Given the description of an element on the screen output the (x, y) to click on. 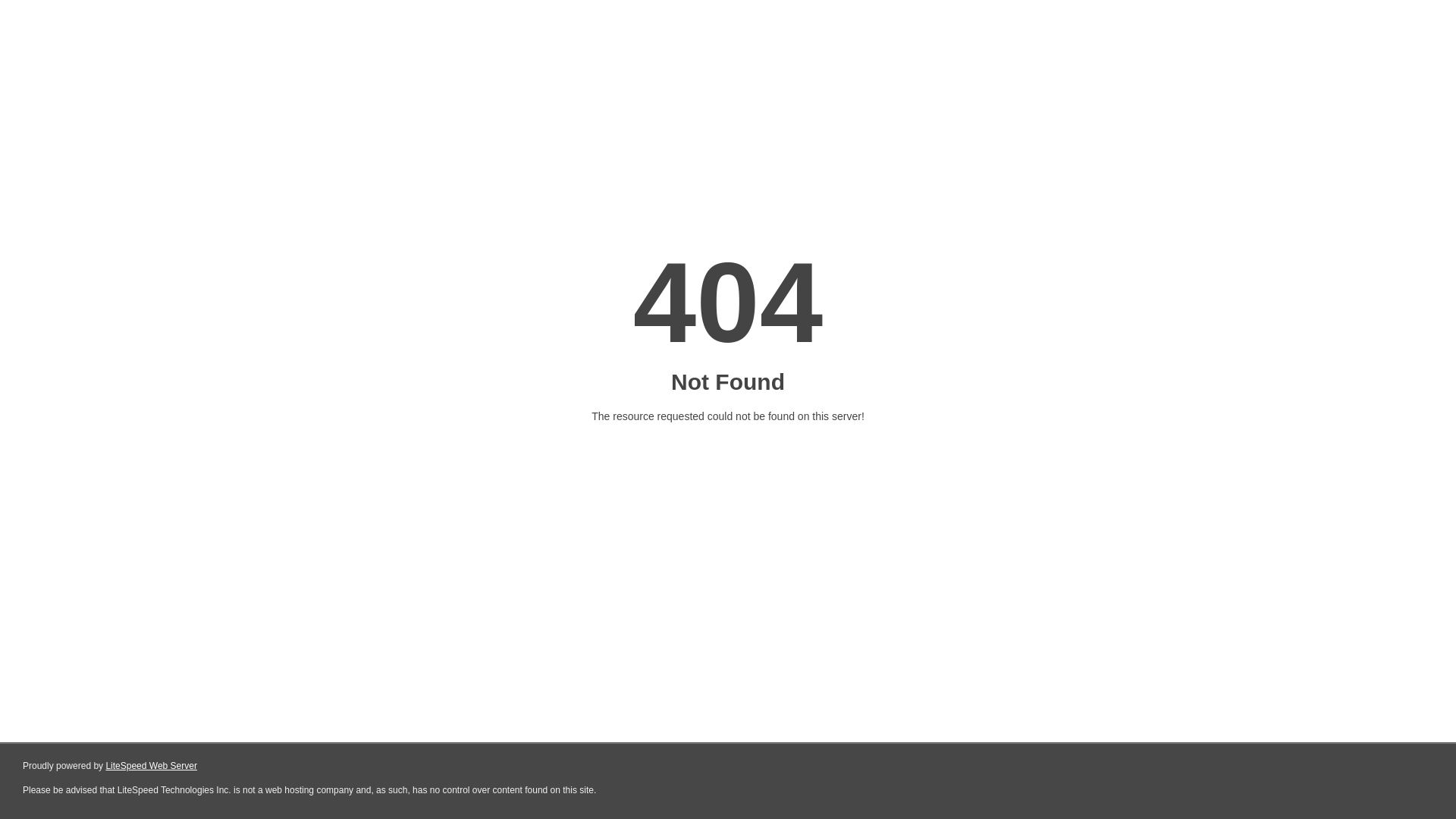
LiteSpeed Web Server Element type: text (151, 765)
